Given the description of an element on the screen output the (x, y) to click on. 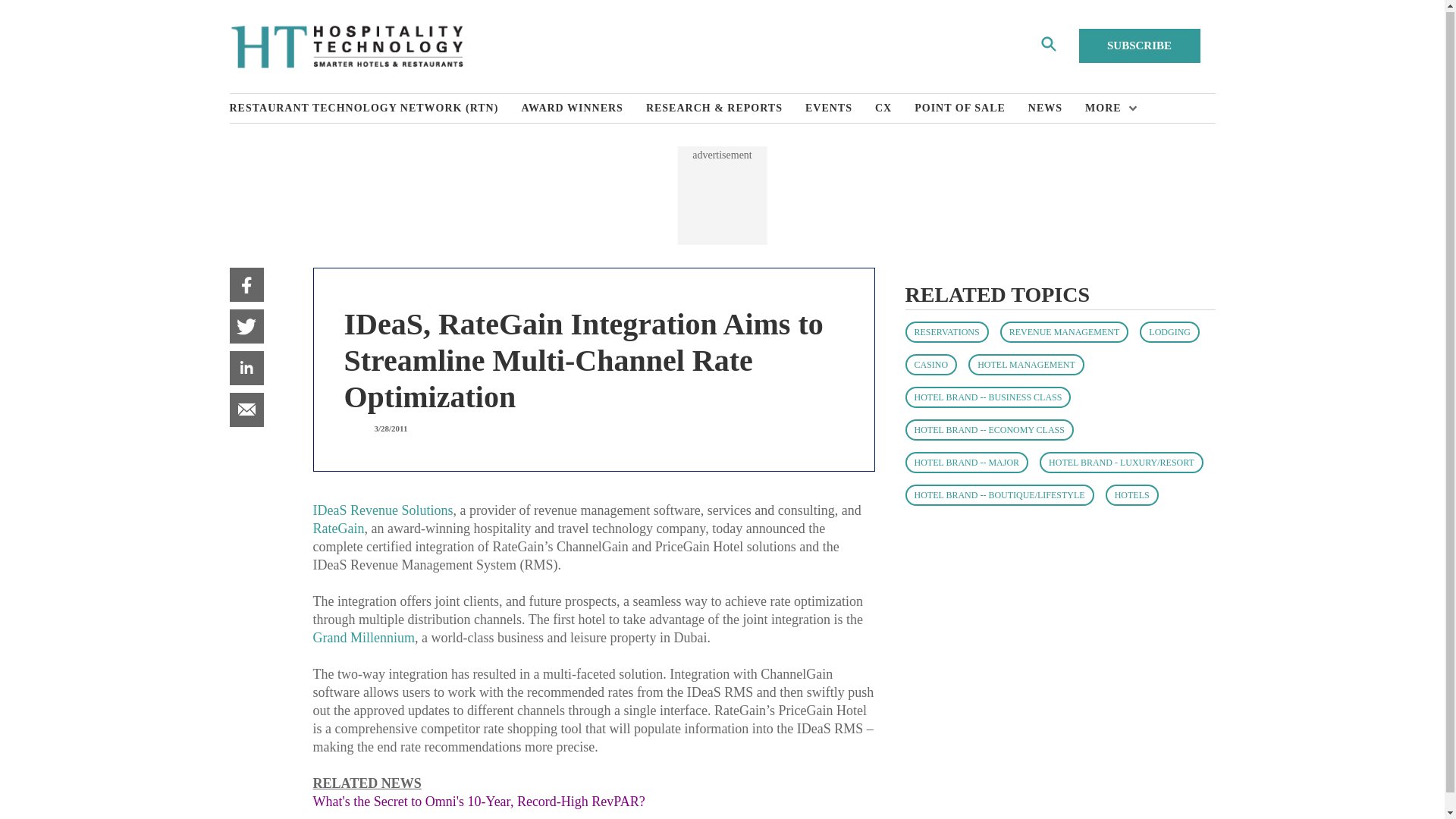
AWARD WINNERS (583, 108)
REVENUE MANAGEMENT (1064, 332)
CX (894, 108)
email (245, 409)
RateGain (338, 528)
linkedIn (245, 367)
LODGING (1169, 332)
EVENTS (840, 108)
HOTELS (1131, 495)
twitter (245, 326)
MORE (1106, 108)
facebook (245, 284)
linkedIn (245, 367)
facebook (245, 284)
Grand Millennium (363, 637)
